Given the description of an element on the screen output the (x, y) to click on. 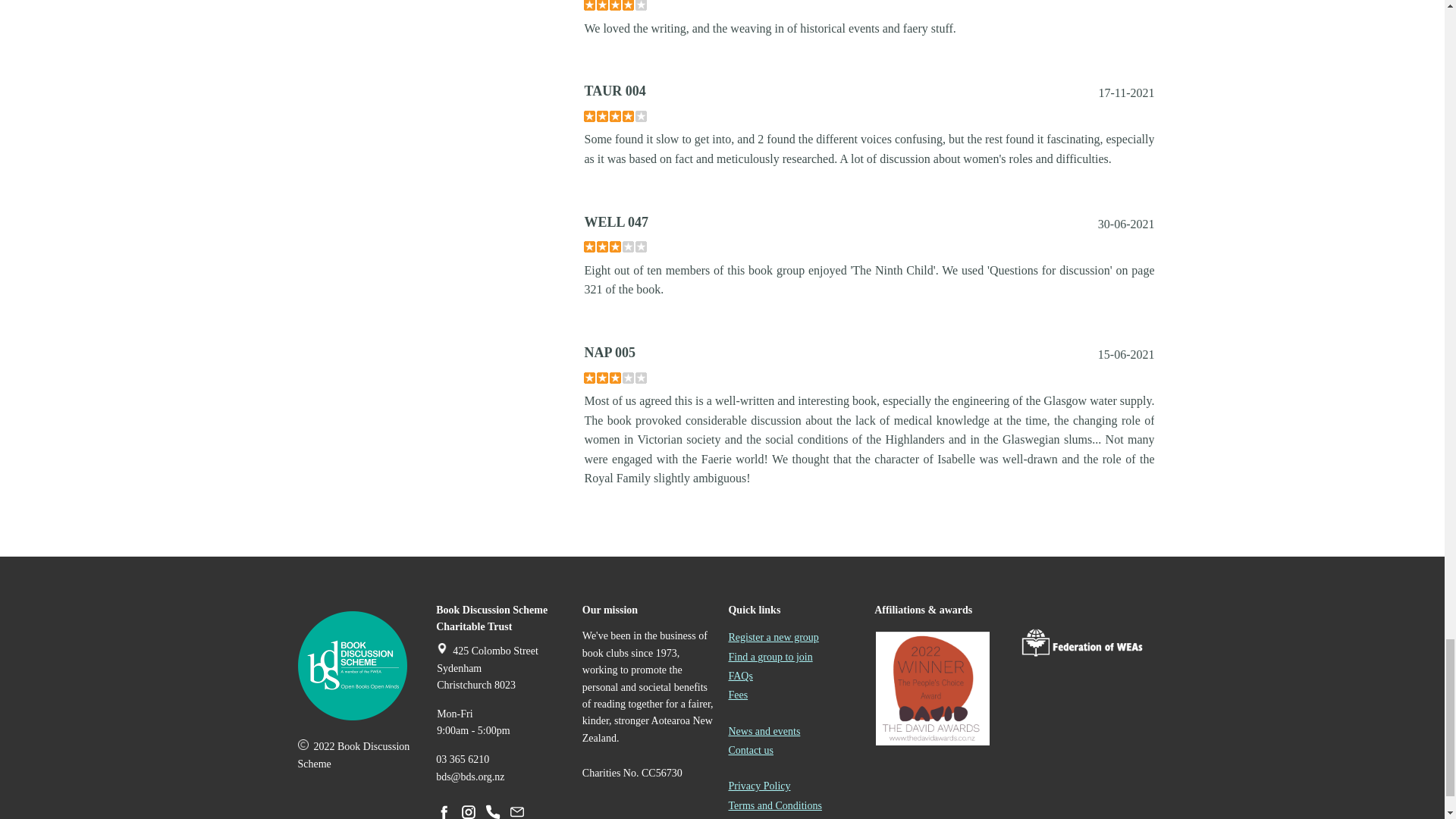
instagram (468, 811)
index.php (351, 665)
facebook (443, 811)
